Given the description of an element on the screen output the (x, y) to click on. 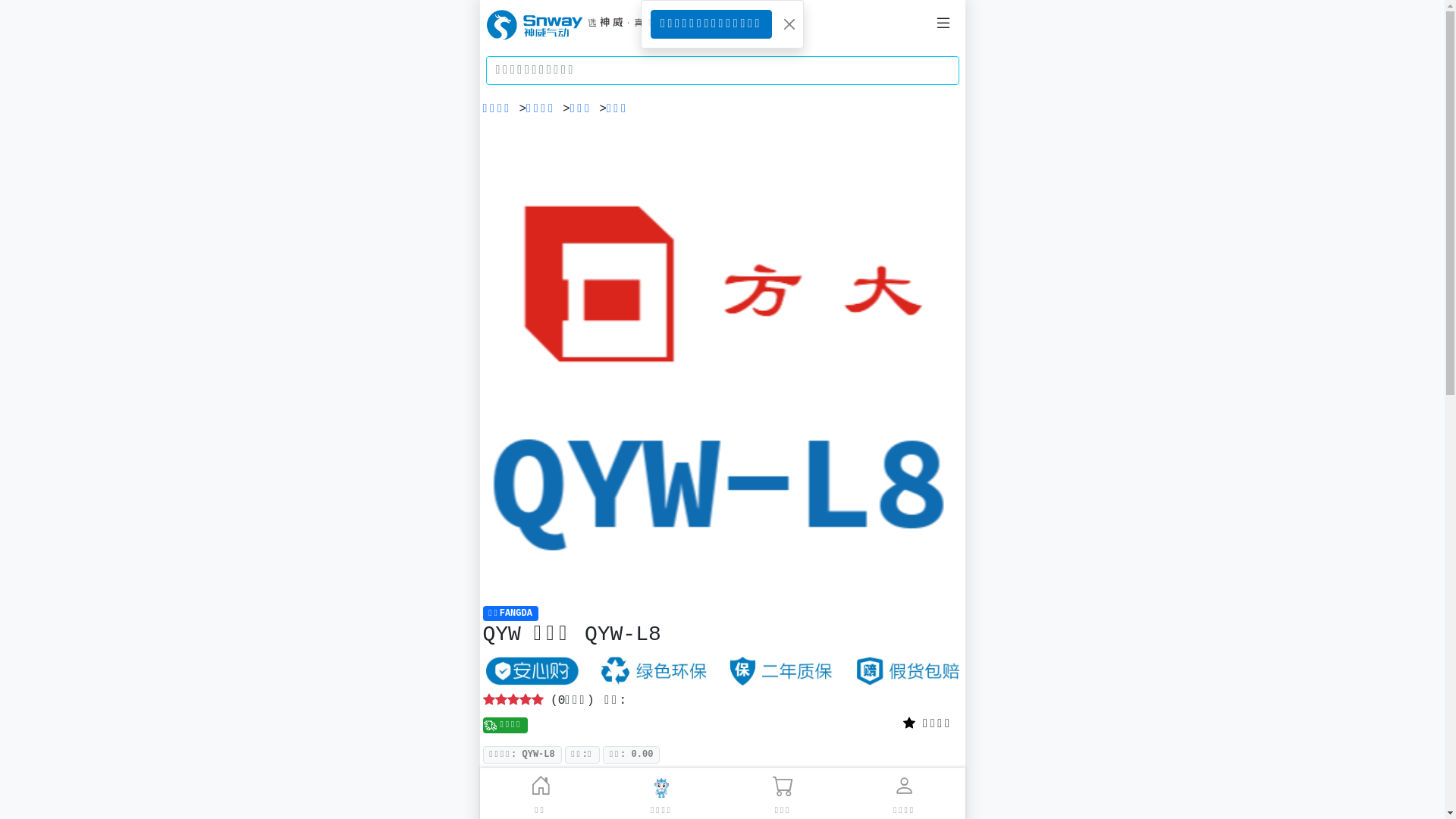
Previous Element type: text (518, 363)
Next Element type: text (926, 363)
